Given the description of an element on the screen output the (x, y) to click on. 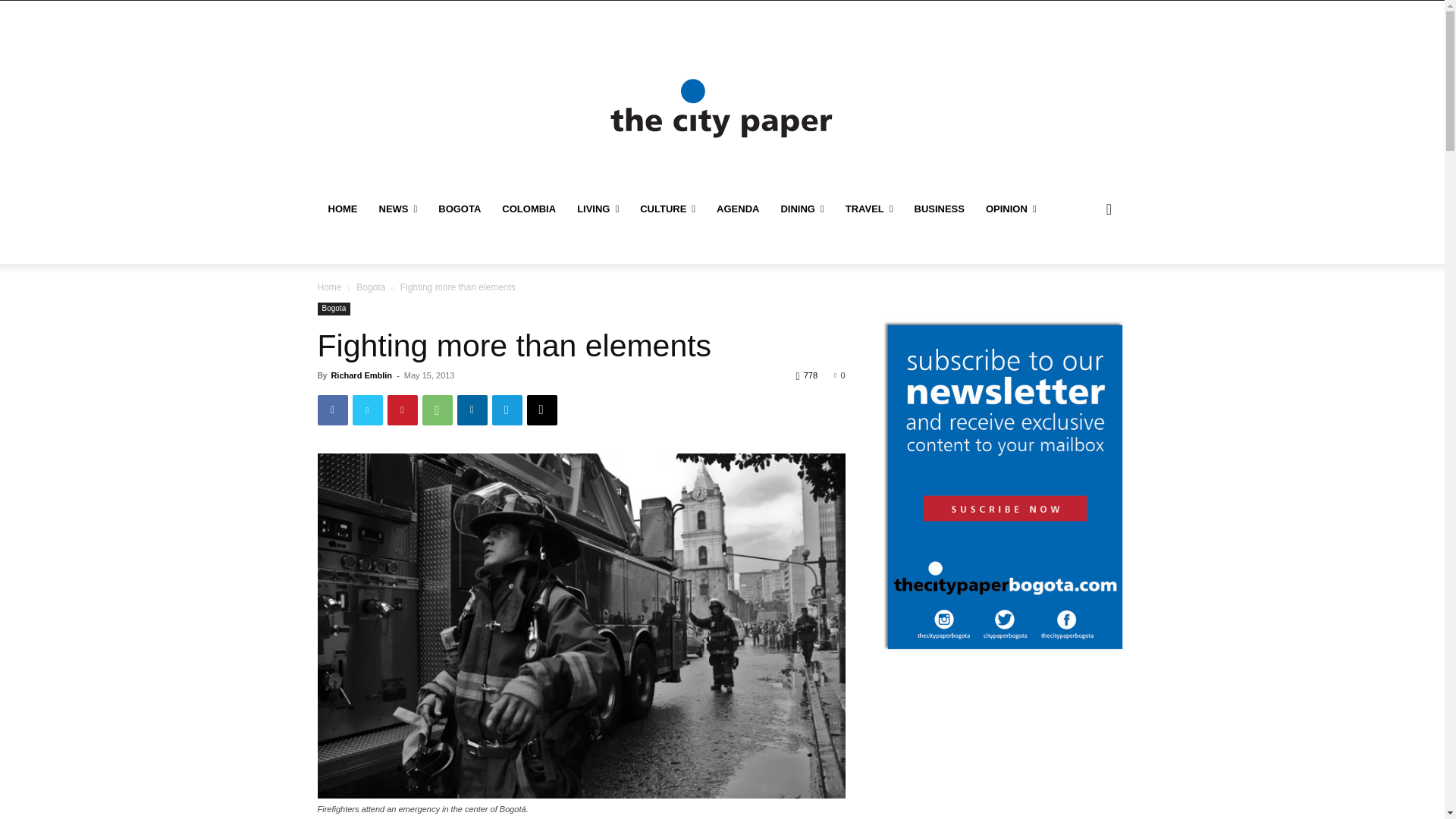
Facebook (332, 409)
Linkedin (471, 409)
Advertisement (721, 34)
Twitter (366, 409)
View all posts in Bogota (370, 286)
Copy URL (540, 409)
Pinterest (401, 409)
Telegram (506, 409)
WhatsApp (436, 409)
